Given the description of an element on the screen output the (x, y) to click on. 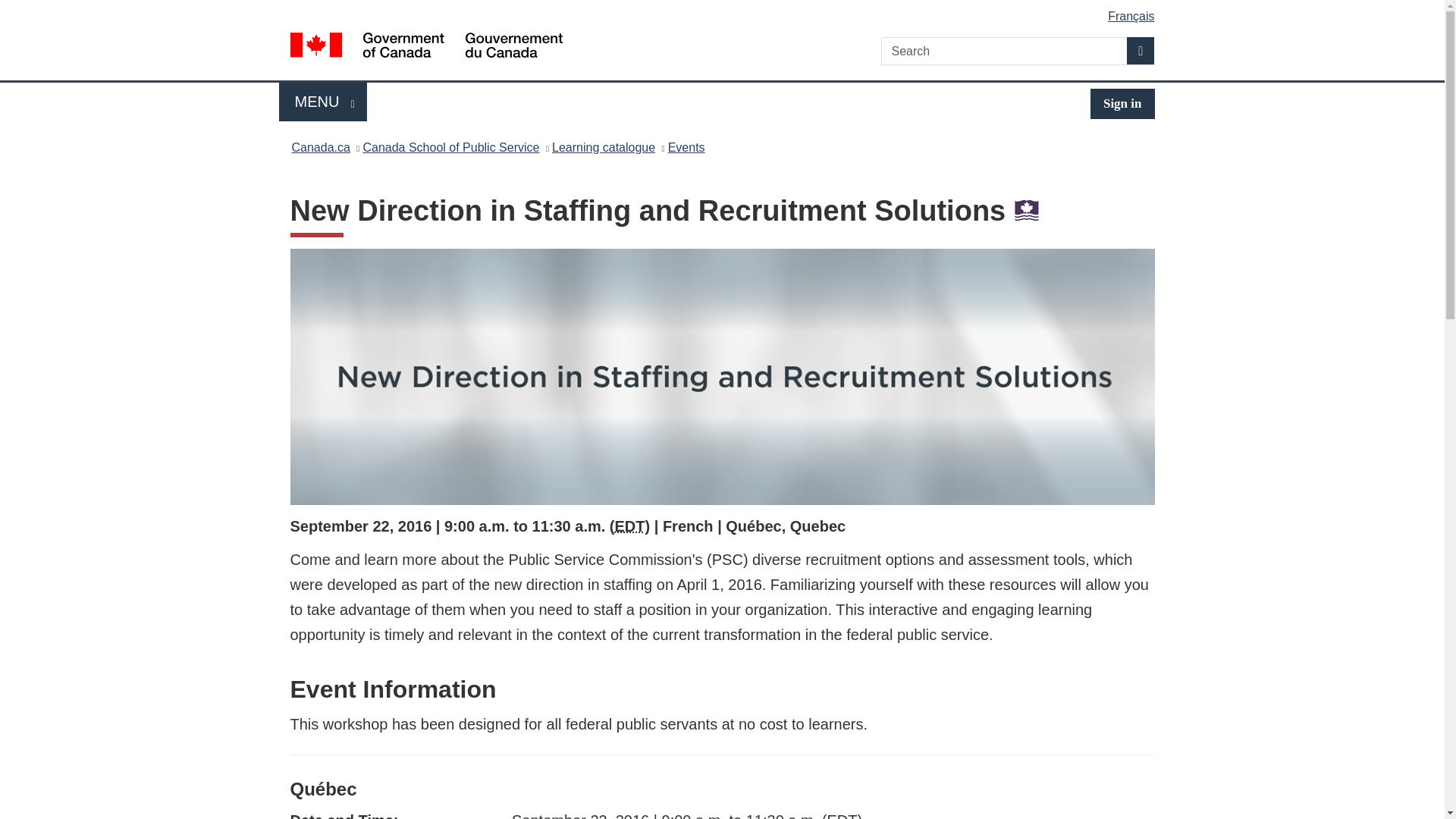
Search (1140, 50)
Events (686, 147)
Sign in (1122, 103)
Canada.ca (320, 147)
Skip to main content (725, 11)
Learning catalogue (603, 147)
East Daylight Time (629, 525)
East Daylight Time (842, 815)
Canada School of Public Service (322, 101)
